Given the description of an element on the screen output the (x, y) to click on. 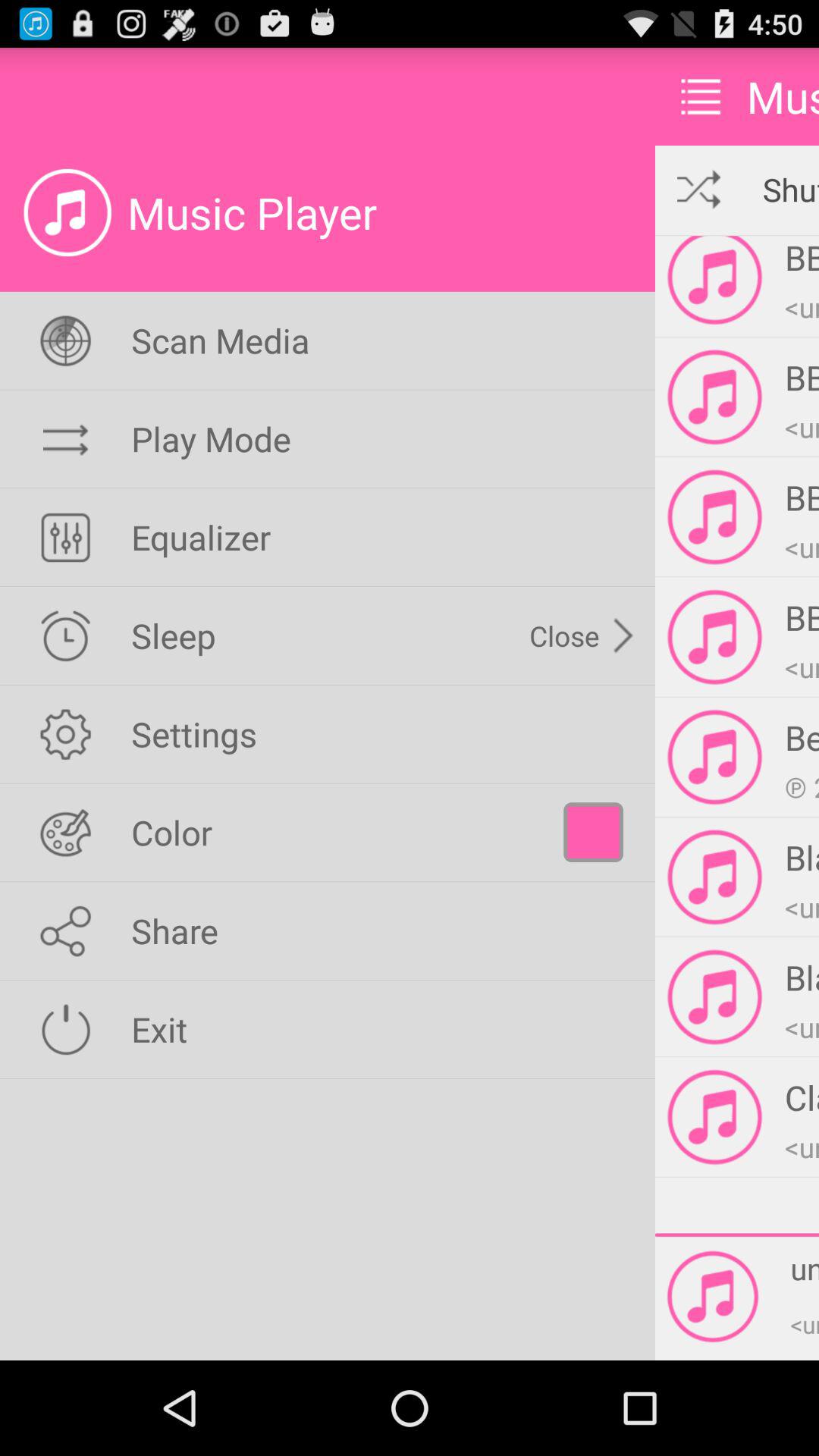
launch the item to the left of music item (700, 96)
